Given the description of an element on the screen output the (x, y) to click on. 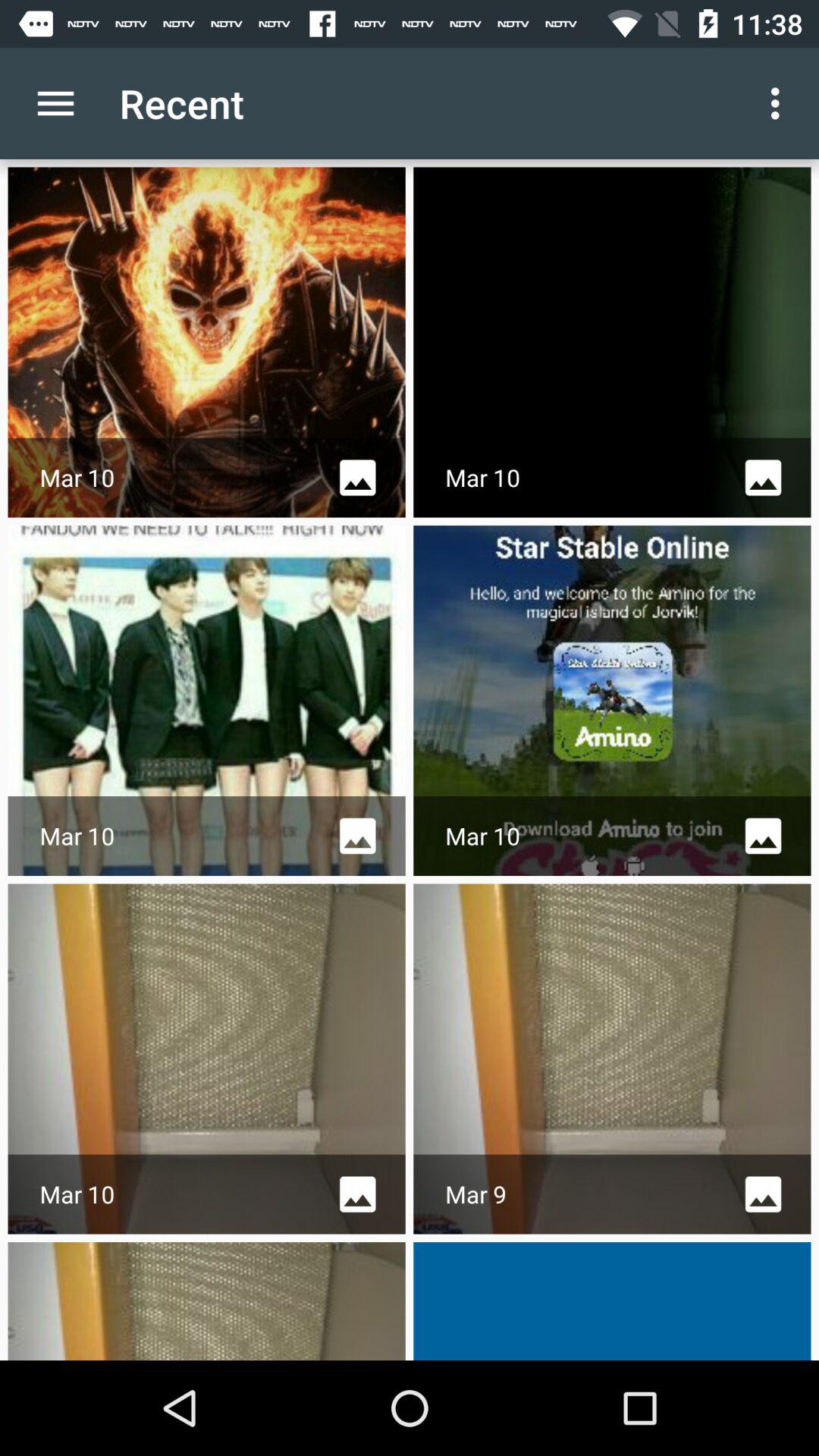
select app to the right of recent icon (779, 103)
